Given the description of an element on the screen output the (x, y) to click on. 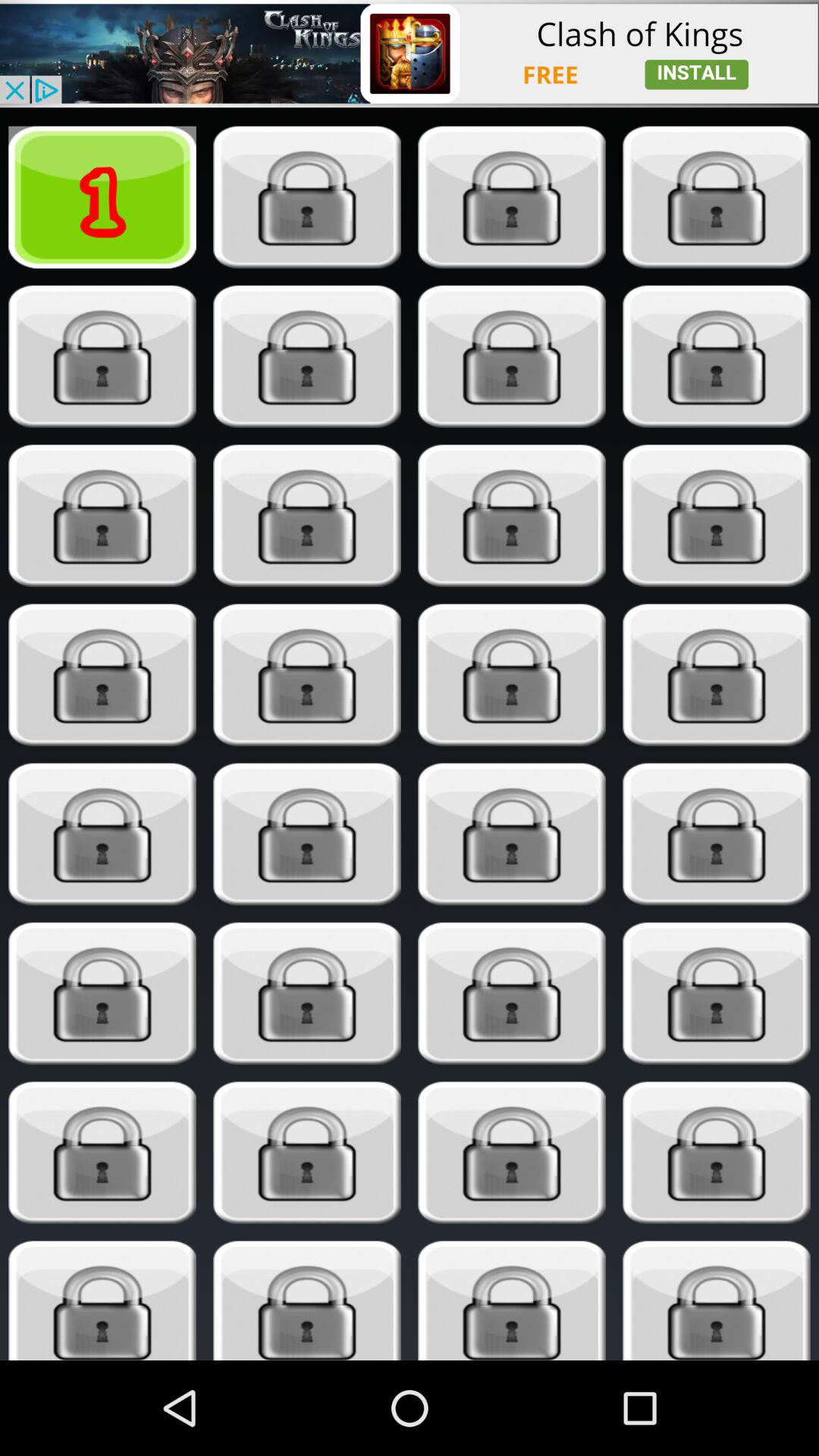
level locked (102, 1152)
